Given the description of an element on the screen output the (x, y) to click on. 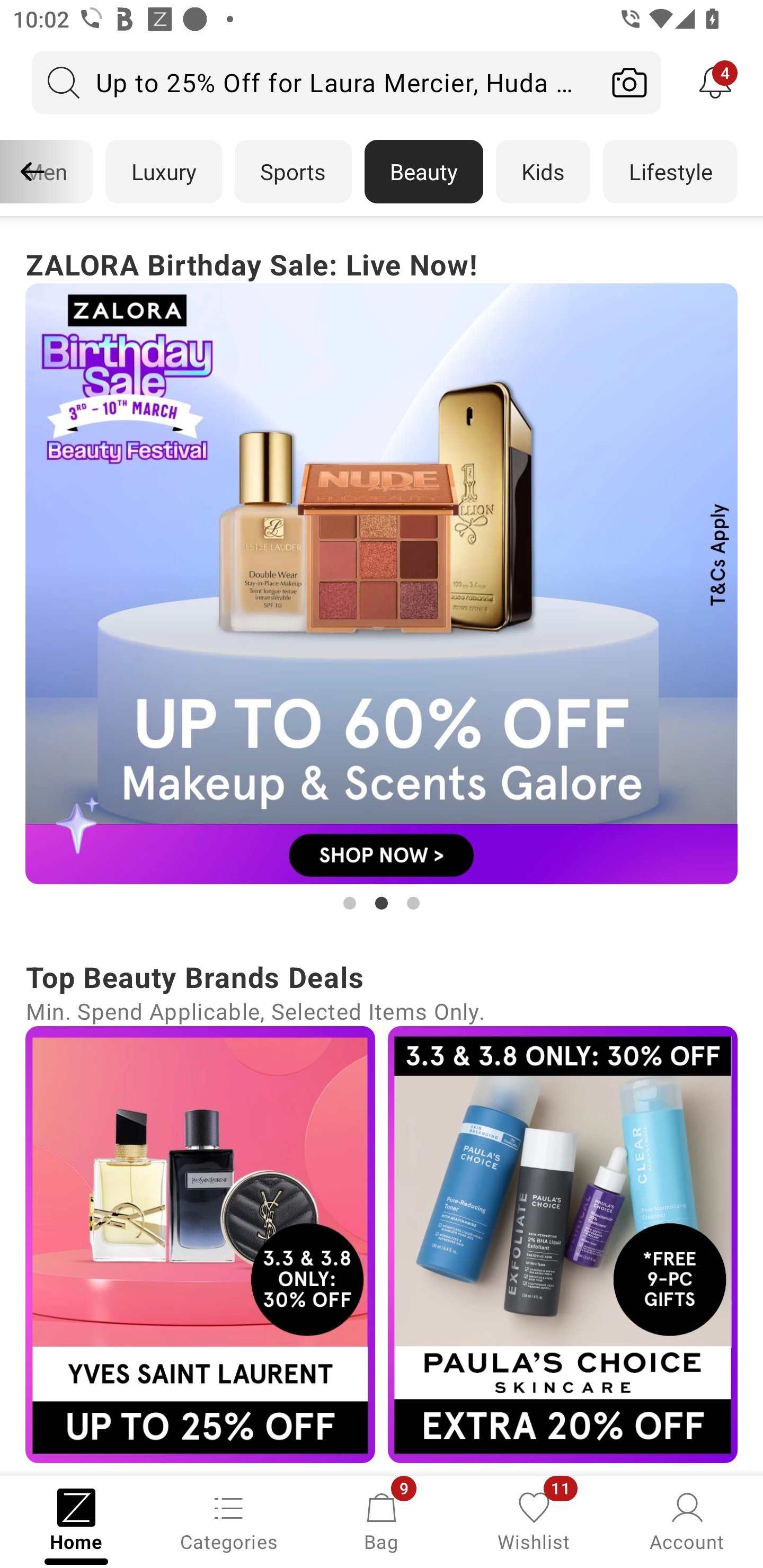
Luxury (163, 171)
Sports (293, 171)
Beauty (423, 171)
Kids (542, 171)
Lifestyle (669, 171)
ZALORA Birthday Sale: Live Now!  Campaign banner (381, 578)
Campaign banner (381, 583)
Campaign banner (200, 1243)
Campaign banner (562, 1243)
Categories (228, 1519)
Bag, 9 new notifications Bag (381, 1519)
Wishlist, 11 new notifications Wishlist (533, 1519)
Account (686, 1519)
